Given the description of an element on the screen output the (x, y) to click on. 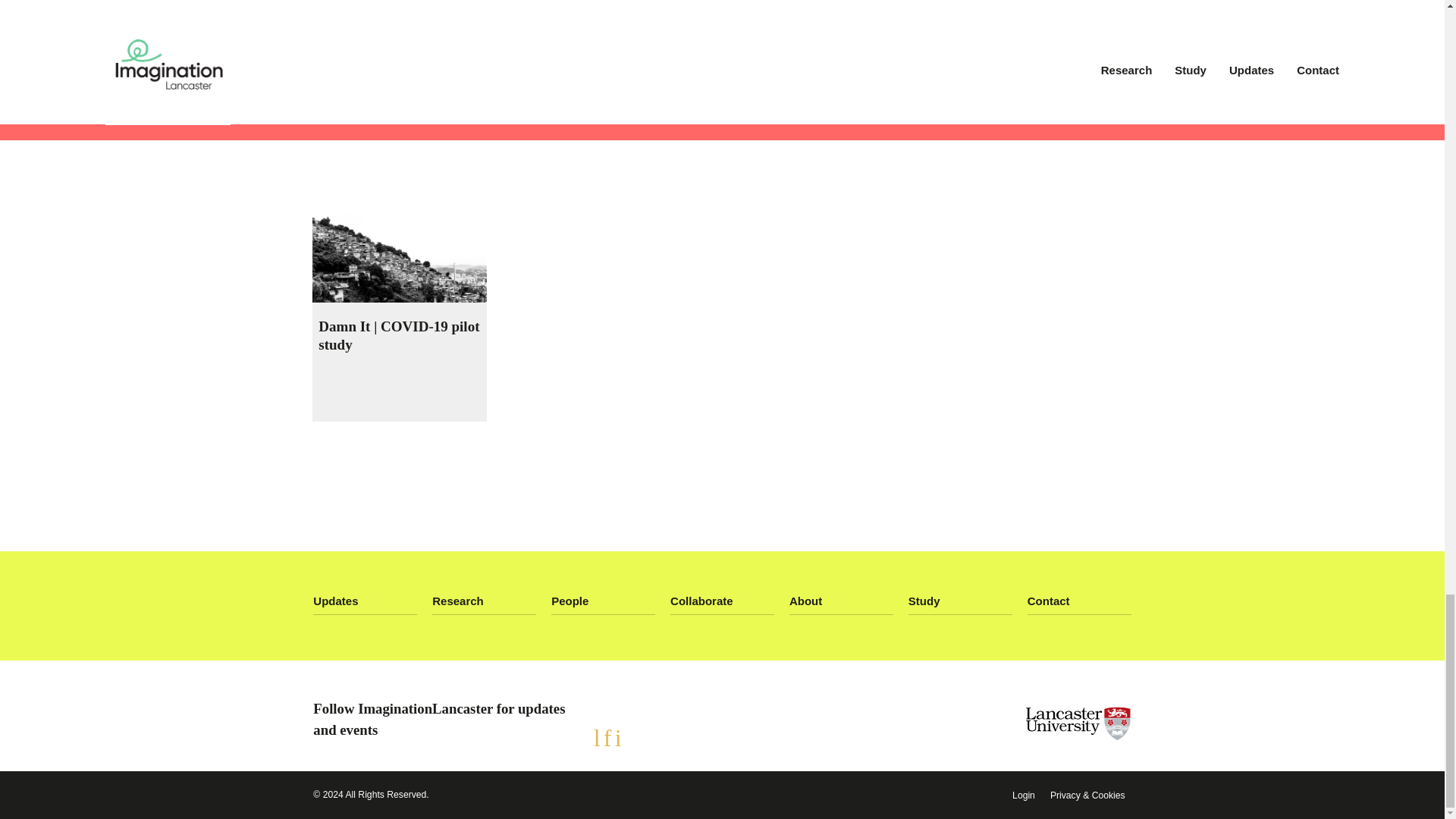
Study (959, 601)
Updates (364, 601)
People (603, 601)
Emmanuel Tsekleves (381, 20)
Collaborate (721, 601)
Research (483, 601)
Research (483, 601)
Updates (364, 601)
About (841, 601)
Contact (1079, 601)
